Given the description of an element on the screen output the (x, y) to click on. 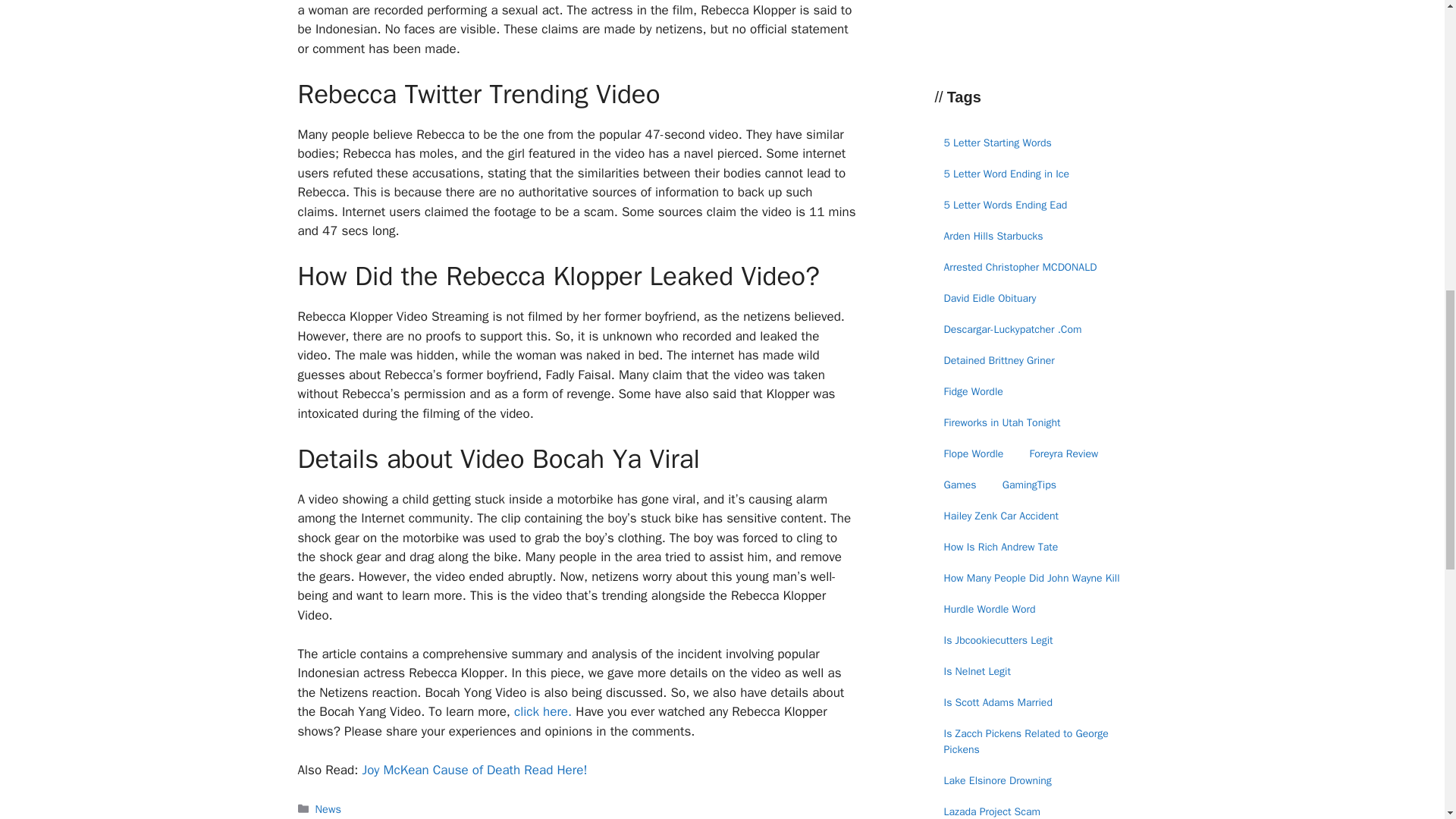
Website Reviews (1018, 4)
5 Letter Starting Words (996, 141)
click here.  (543, 711)
News (327, 808)
Arden Hills Starbucks (992, 236)
Scroll back to top (1406, 720)
5 Letter Word Ending in Ice (1006, 173)
Joy McKean Cause of Death Read Here! (473, 770)
5 Letter Words Ending Ead (1004, 204)
